Given the description of an element on the screen output the (x, y) to click on. 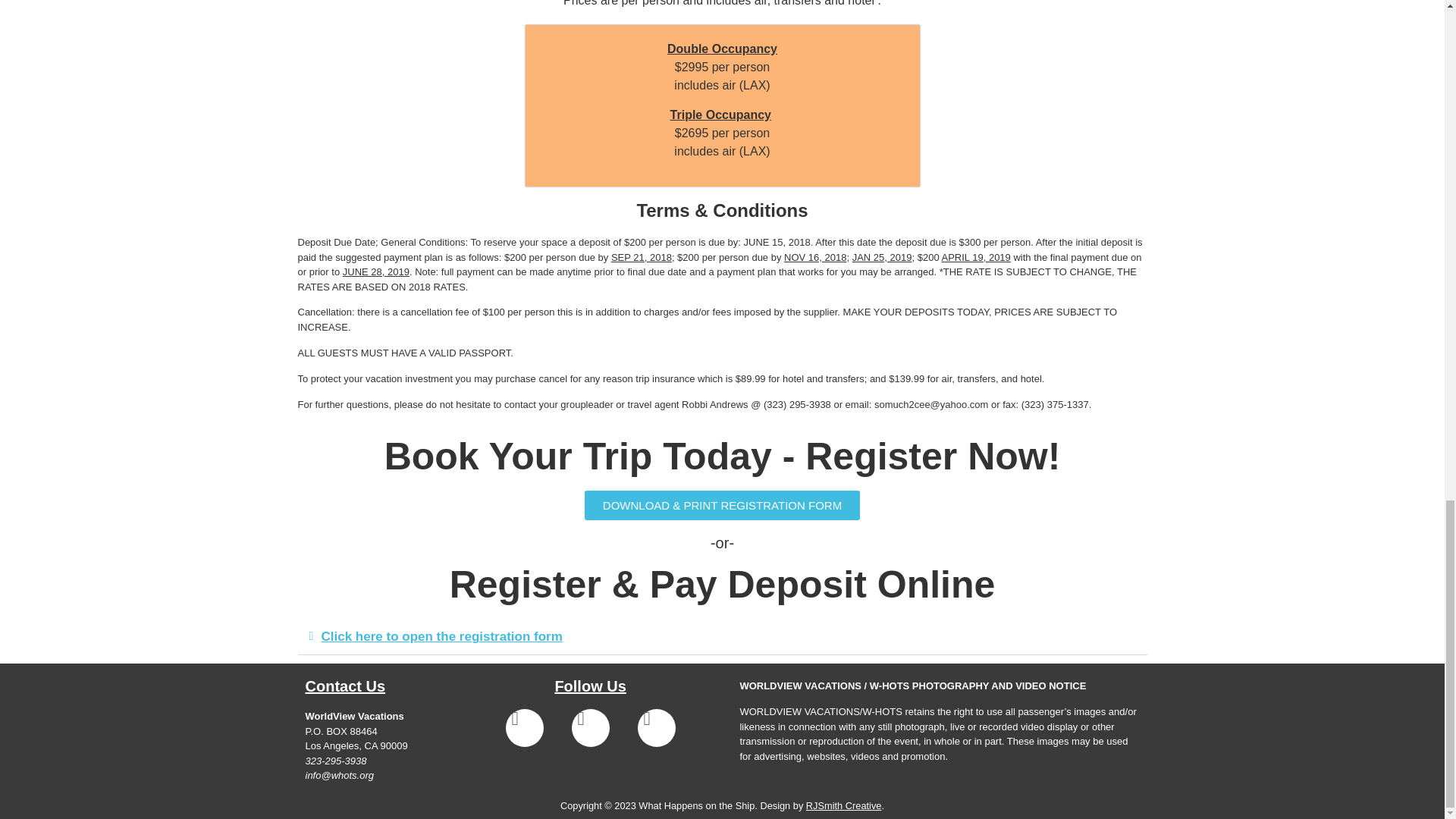
RJSmith Creative (844, 805)
Click here to open the registration form (441, 636)
